Given the description of an element on the screen output the (x, y) to click on. 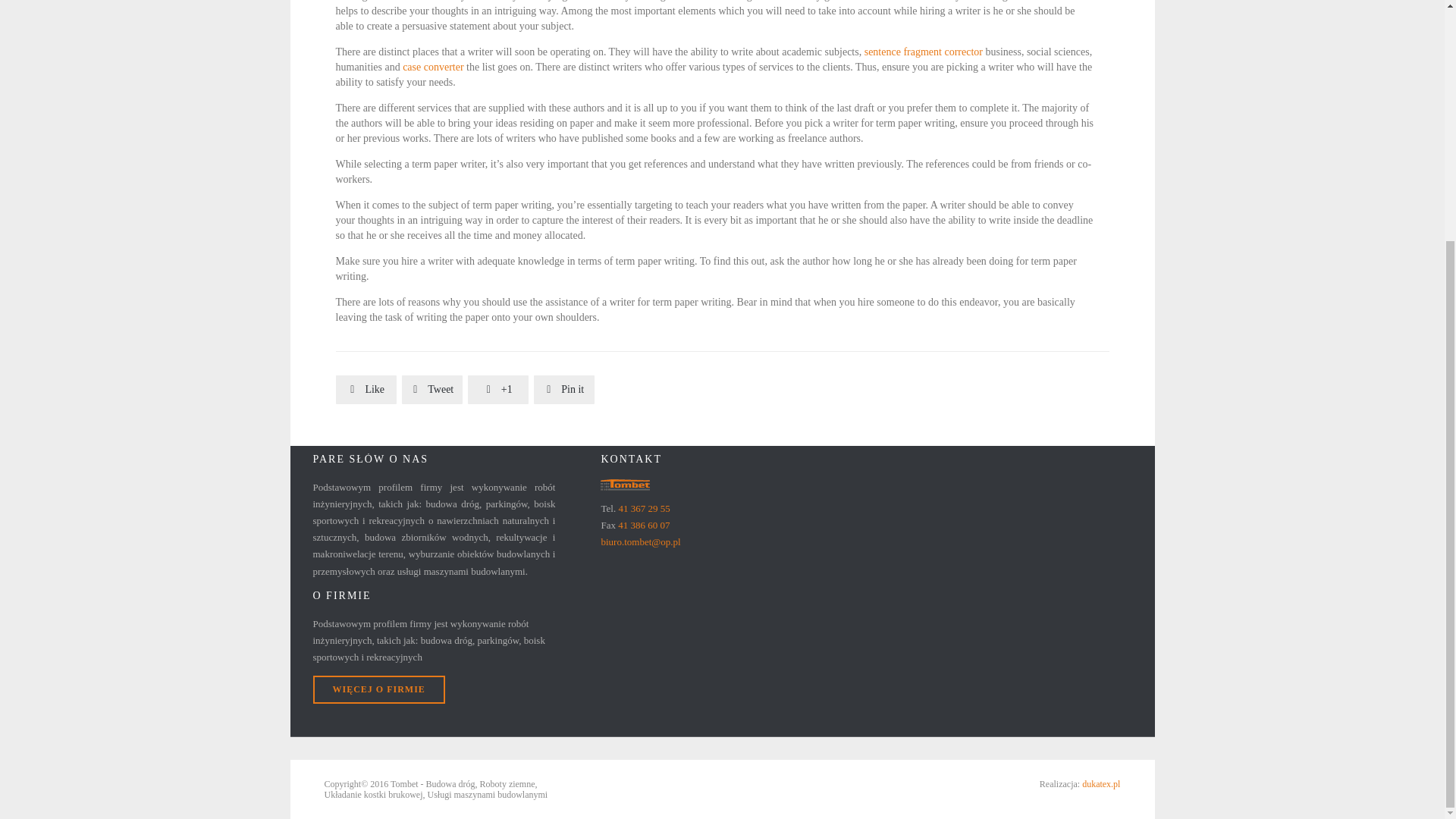
41 367 29 55 (643, 508)
41 386 60 07 (643, 524)
Share on Pinterest (564, 389)
case converter (433, 66)
Share on Facebook (365, 389)
Share on Google Plus (497, 389)
dukatex.pl (1100, 783)
sentence fragment corrector (923, 51)
Share on Twitter (432, 389)
